Given the description of an element on the screen output the (x, y) to click on. 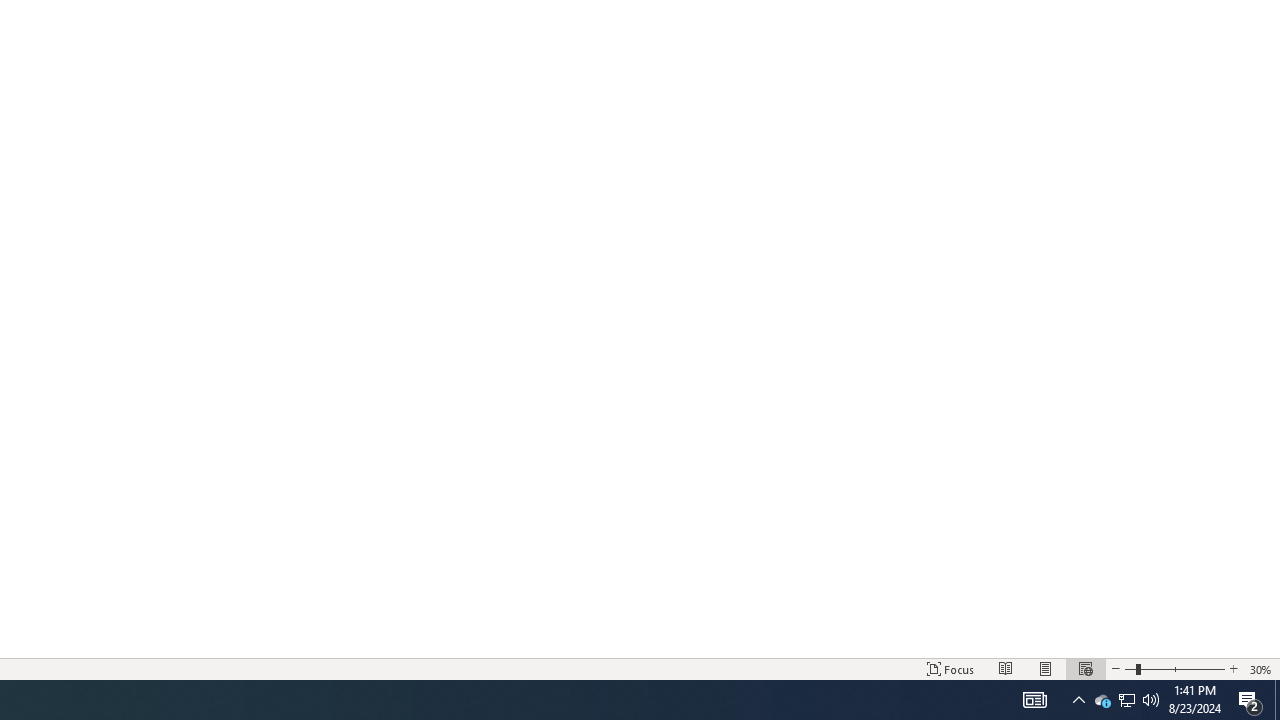
Zoom 30% (1261, 668)
